Given the description of an element on the screen output the (x, y) to click on. 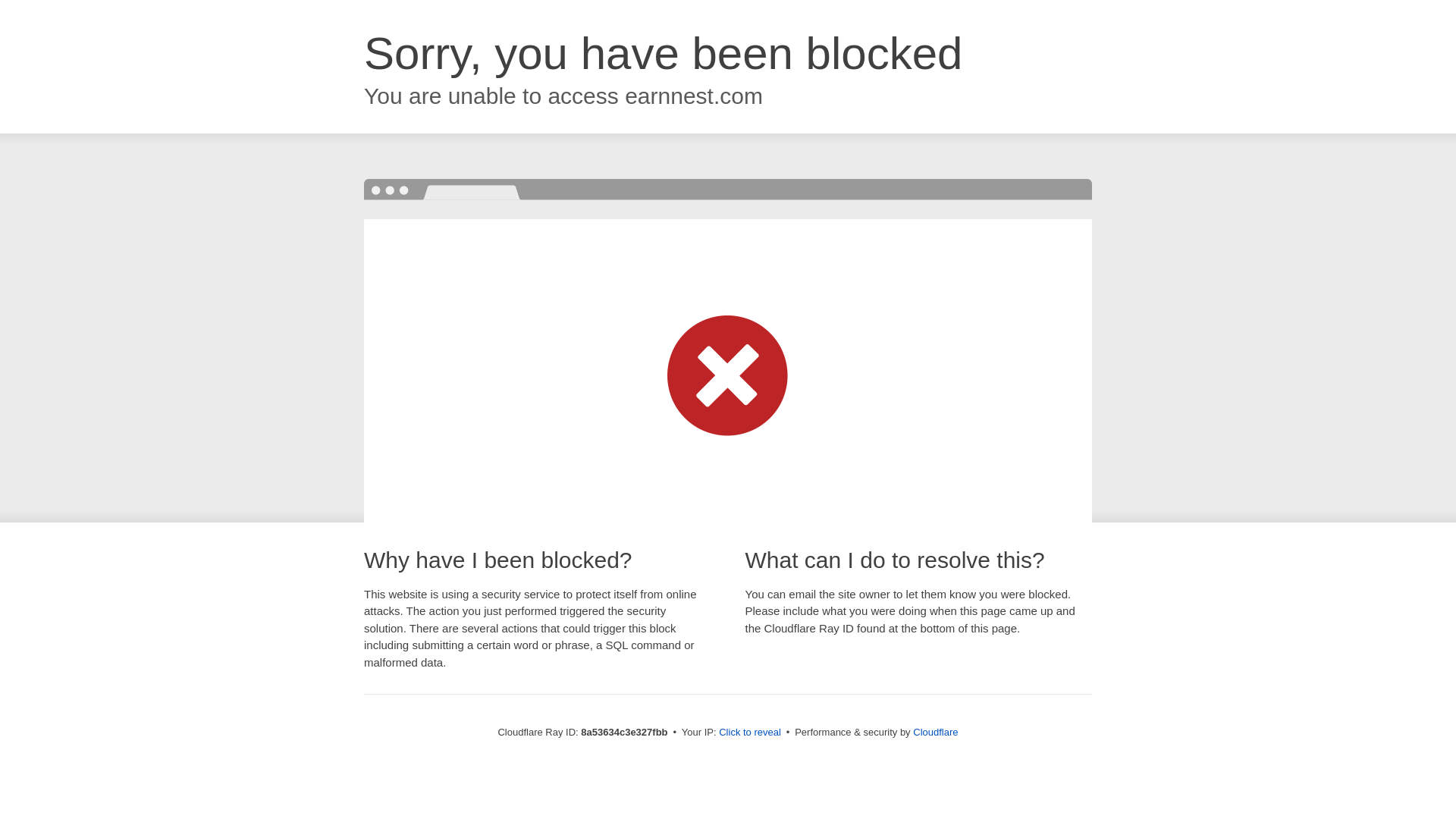
Cloudflare (935, 731)
Click to reveal (749, 732)
